Given the description of an element on the screen output the (x, y) to click on. 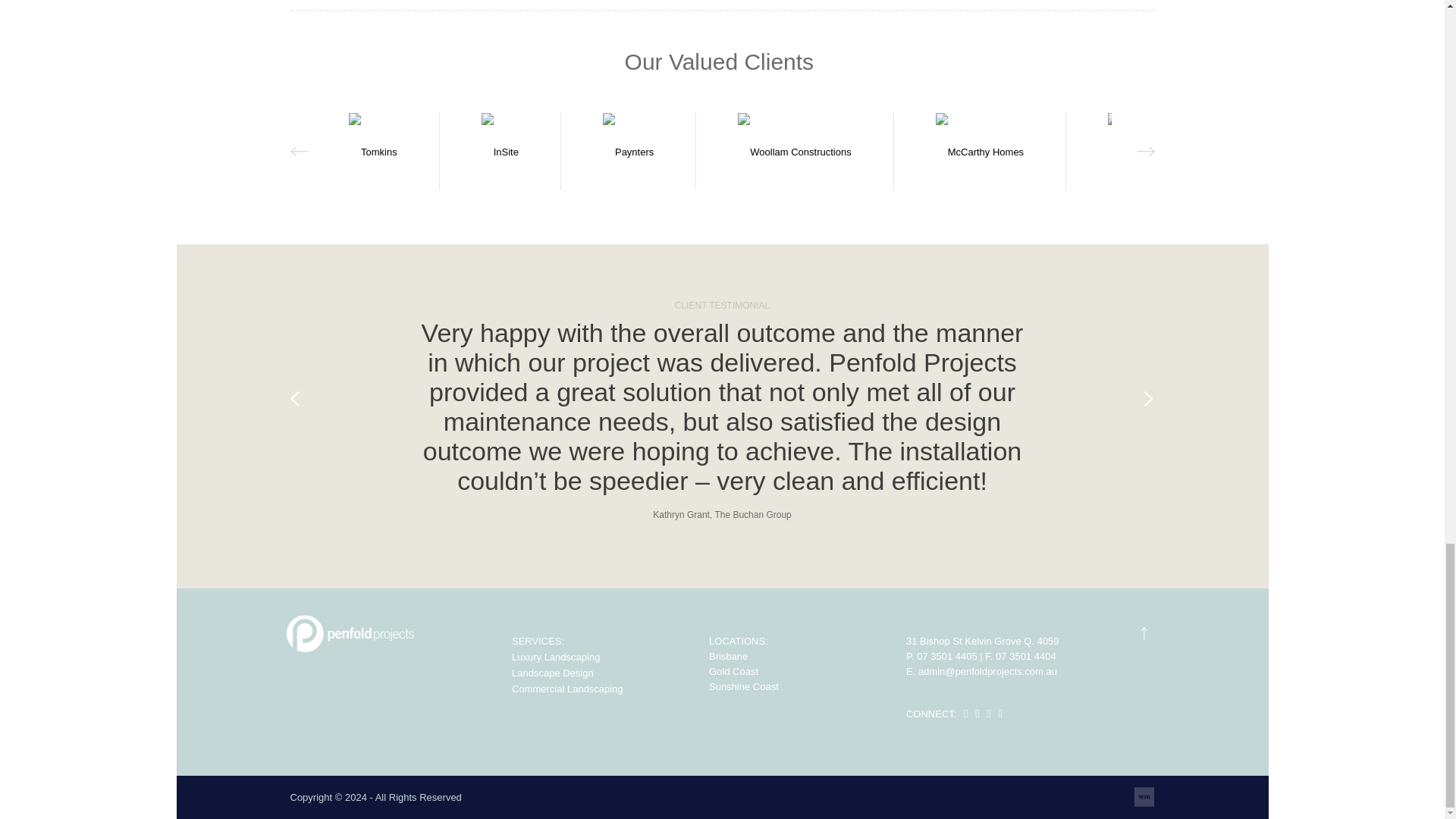
Woollam Constructions (794, 151)
